Given the description of an element on the screen output the (x, y) to click on. 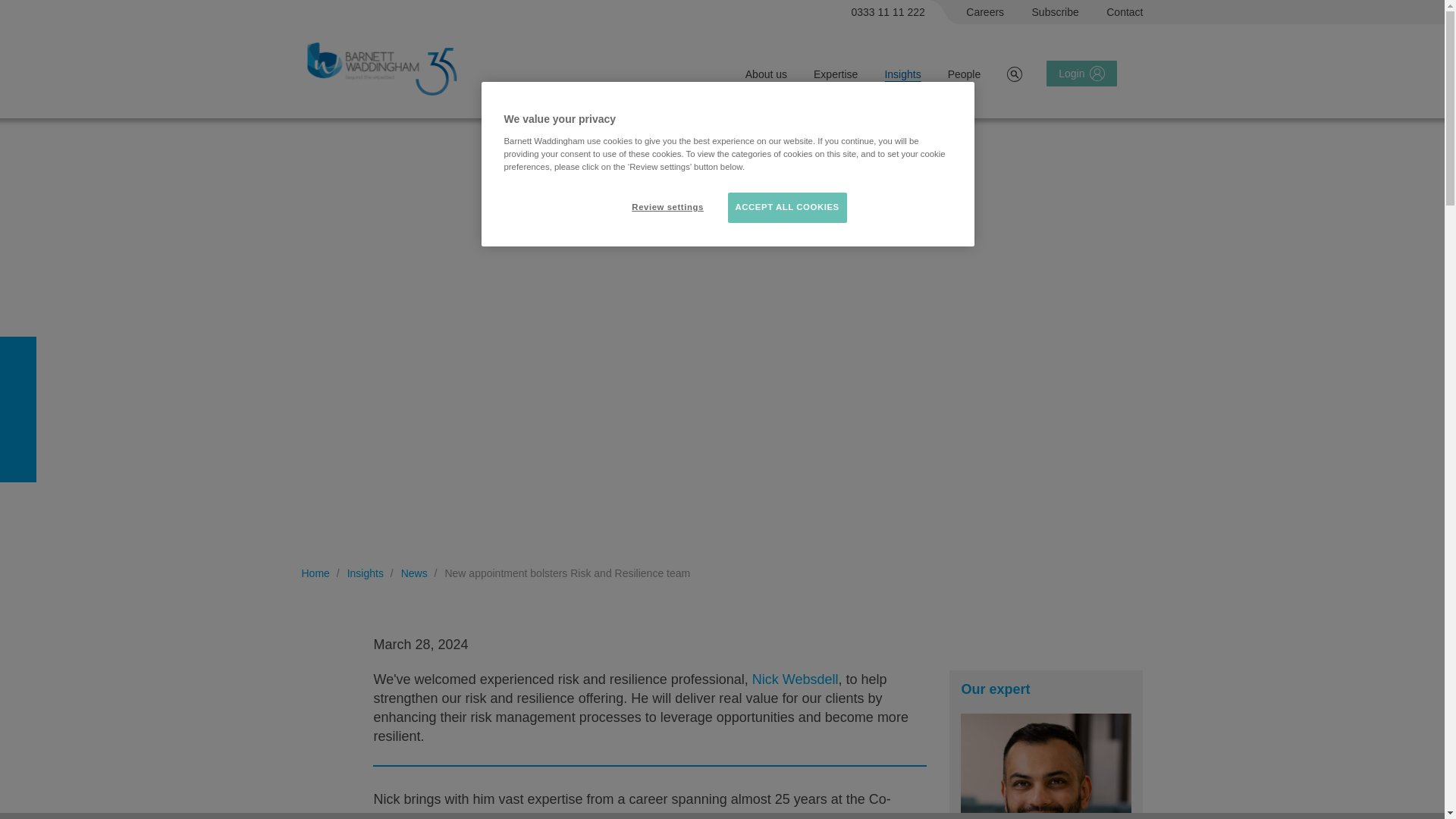
Subscribe (1055, 12)
0333 11 11 222 (889, 12)
Careers (985, 12)
About us (766, 73)
Contact (1124, 12)
Expertise (835, 73)
